Given the description of an element on the screen output the (x, y) to click on. 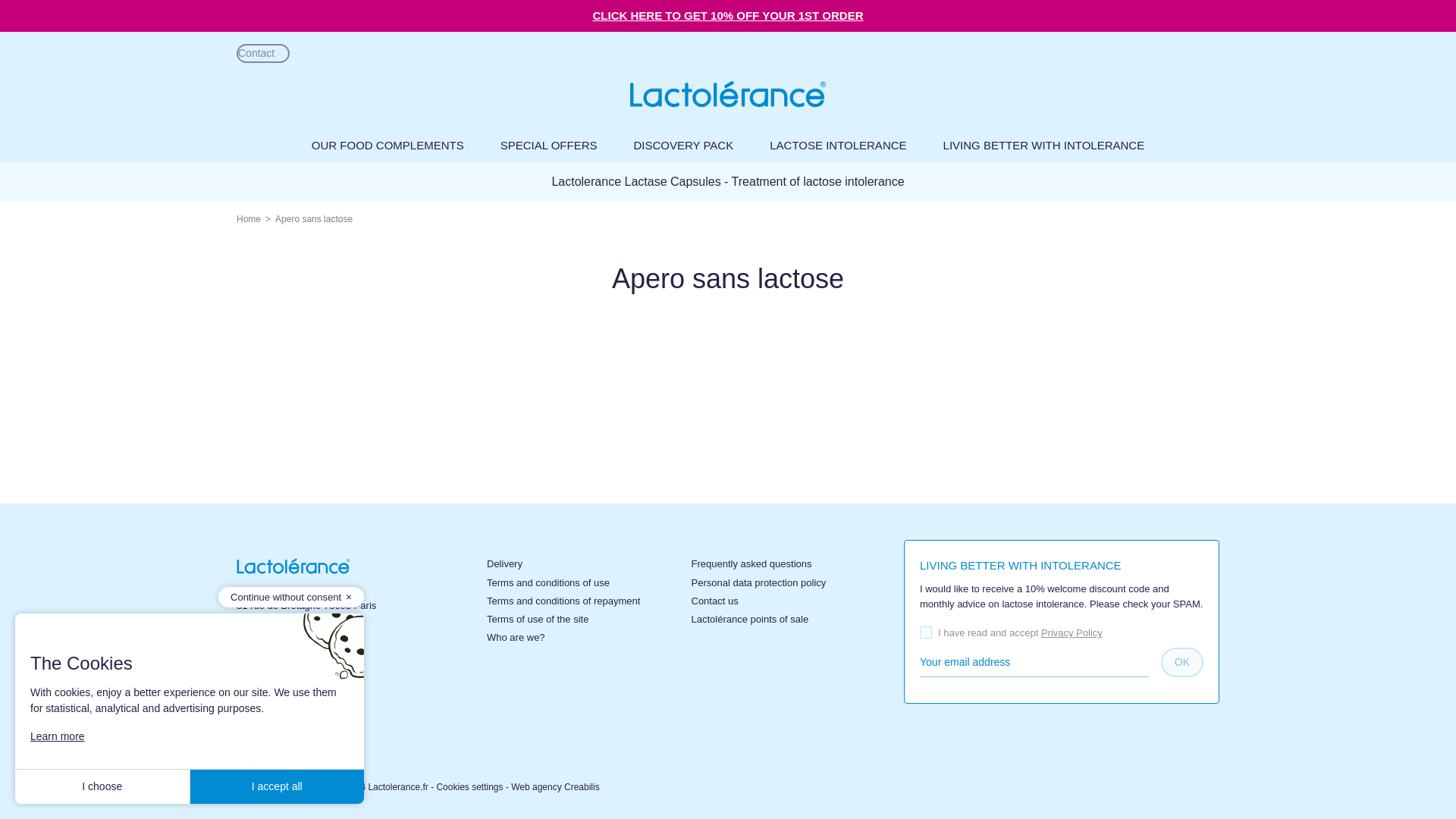
Contact us (714, 600)
Home (247, 218)
Delivery (504, 563)
Terms of use of the site (537, 618)
Terms and conditions of repayment (563, 600)
Terms and conditions of use (548, 582)
Cookies settings (468, 787)
1 (925, 632)
OK (1182, 662)
09 70 70 70 87 (312, 668)
